Given the description of an element on the screen output the (x, y) to click on. 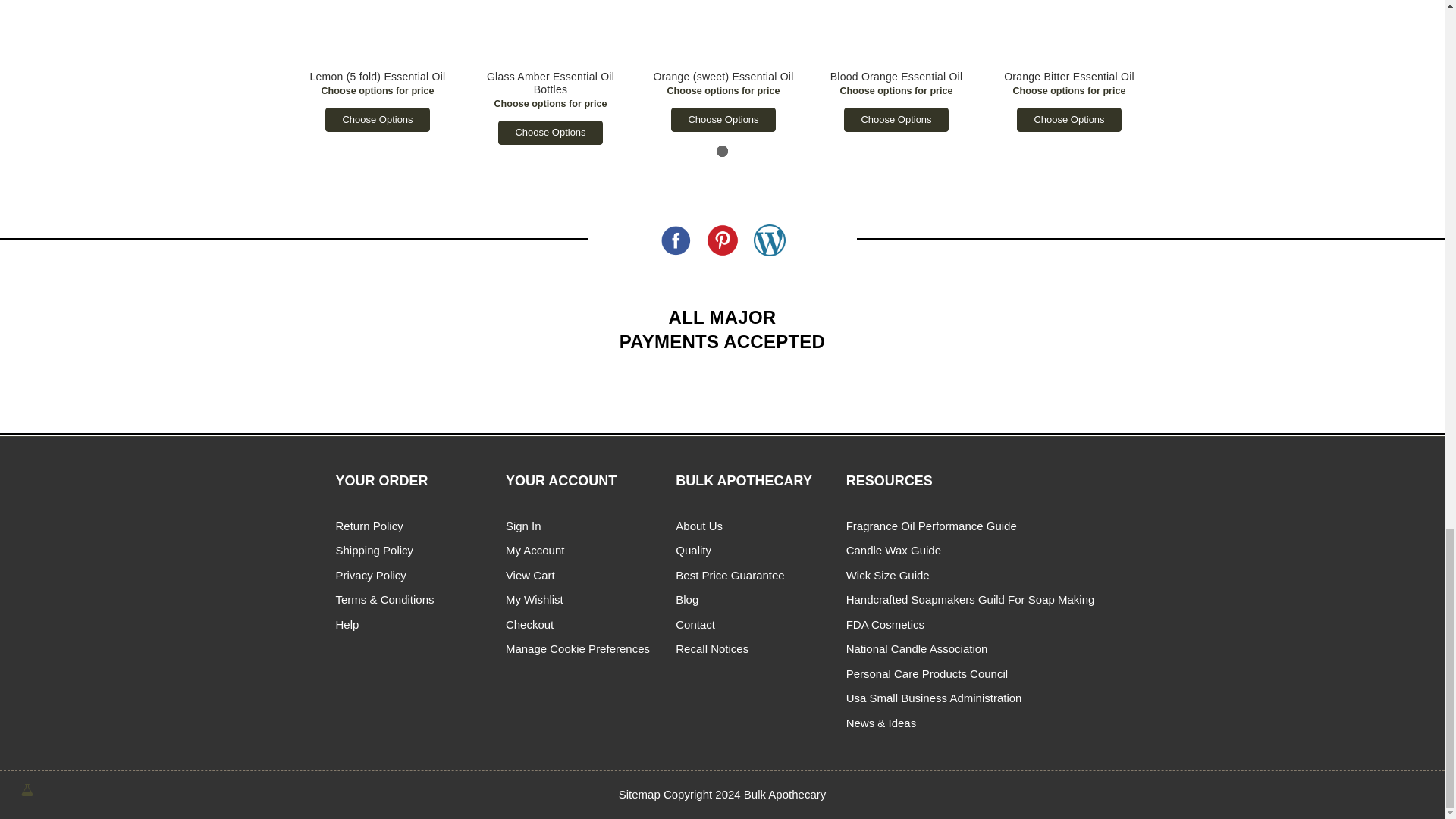
Checkout (529, 624)
Sign In (523, 525)
My Wishlist (534, 599)
My Account (534, 549)
Glass Amber Bottles (549, 31)
View Cart (529, 574)
Orange Bitter Essential Oil (1068, 31)
Blood Orange Essential Oil (895, 31)
Manage Cookie Preferences (577, 648)
